Given the description of an element on the screen output the (x, y) to click on. 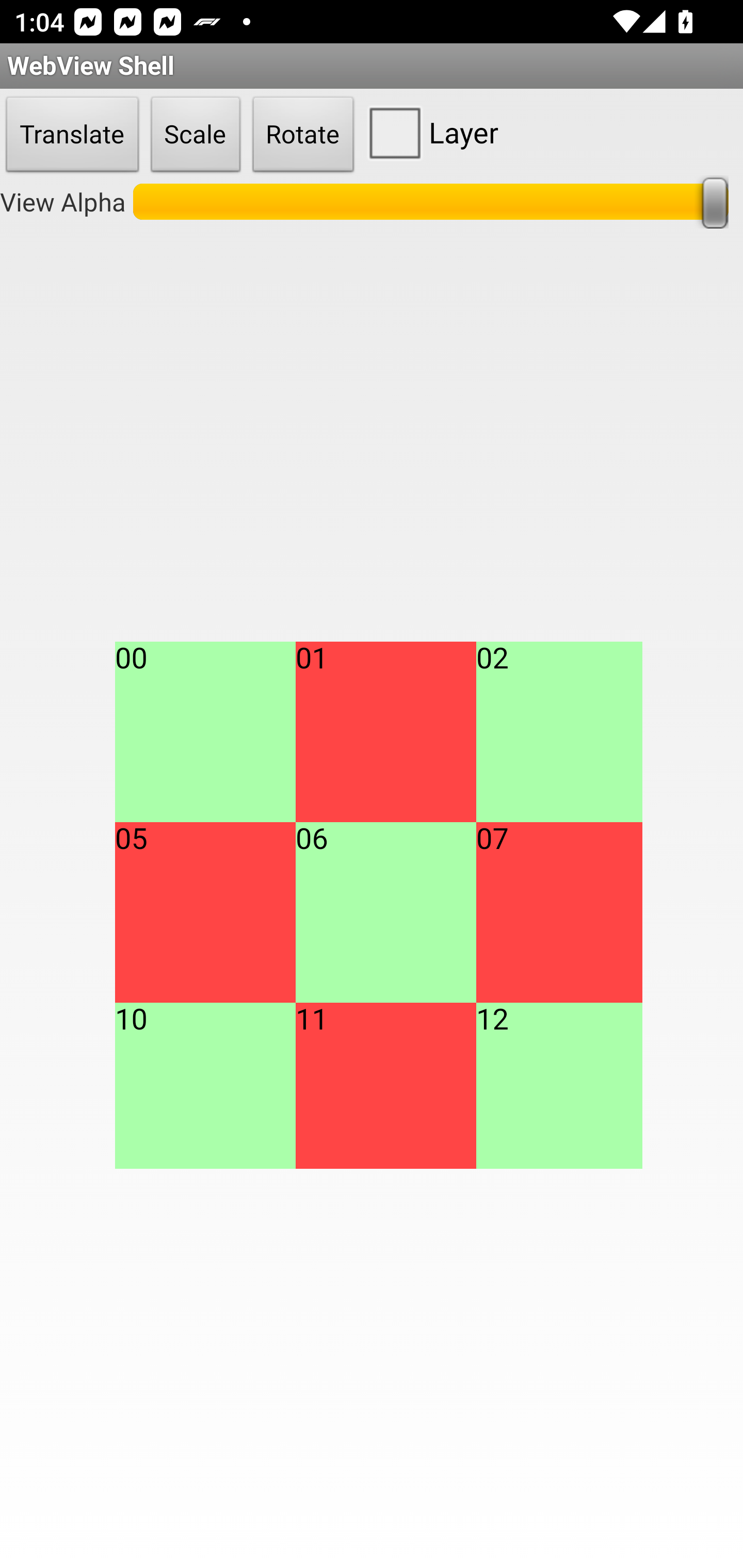
Layer (429, 132)
Translate (72, 135)
Scale (195, 135)
Rotate (303, 135)
